Given the description of an element on the screen output the (x, y) to click on. 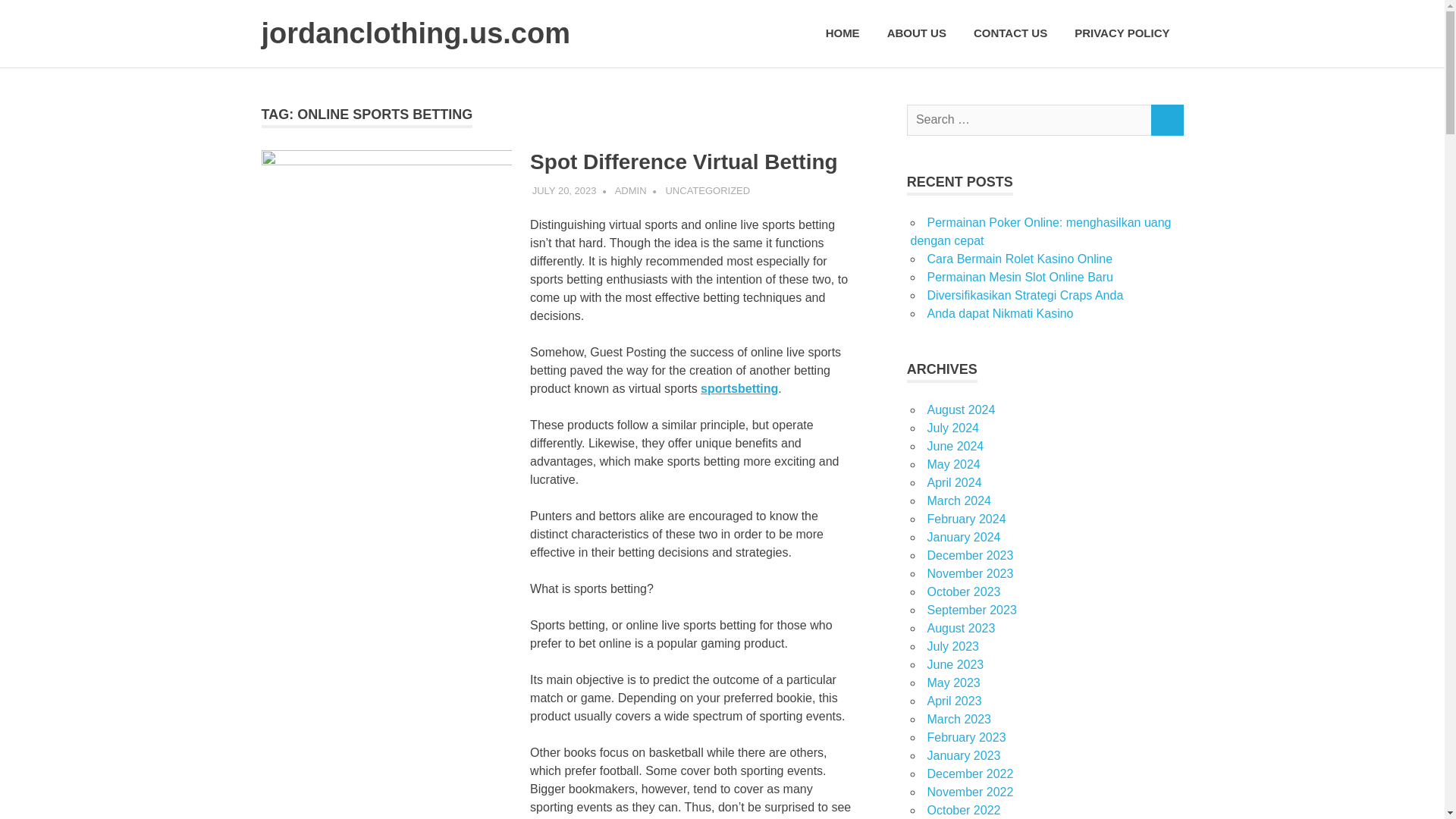
January 2024 (963, 536)
Permainan Mesin Slot Online Baru (1019, 277)
HOME (842, 33)
February 2024 (966, 518)
Spot Difference Virtual Betting (683, 161)
April 2024 (953, 481)
sportsbetting (738, 388)
June 2024 (955, 445)
Search for: (1029, 119)
CONTACT US (1010, 33)
